Given the description of an element on the screen output the (x, y) to click on. 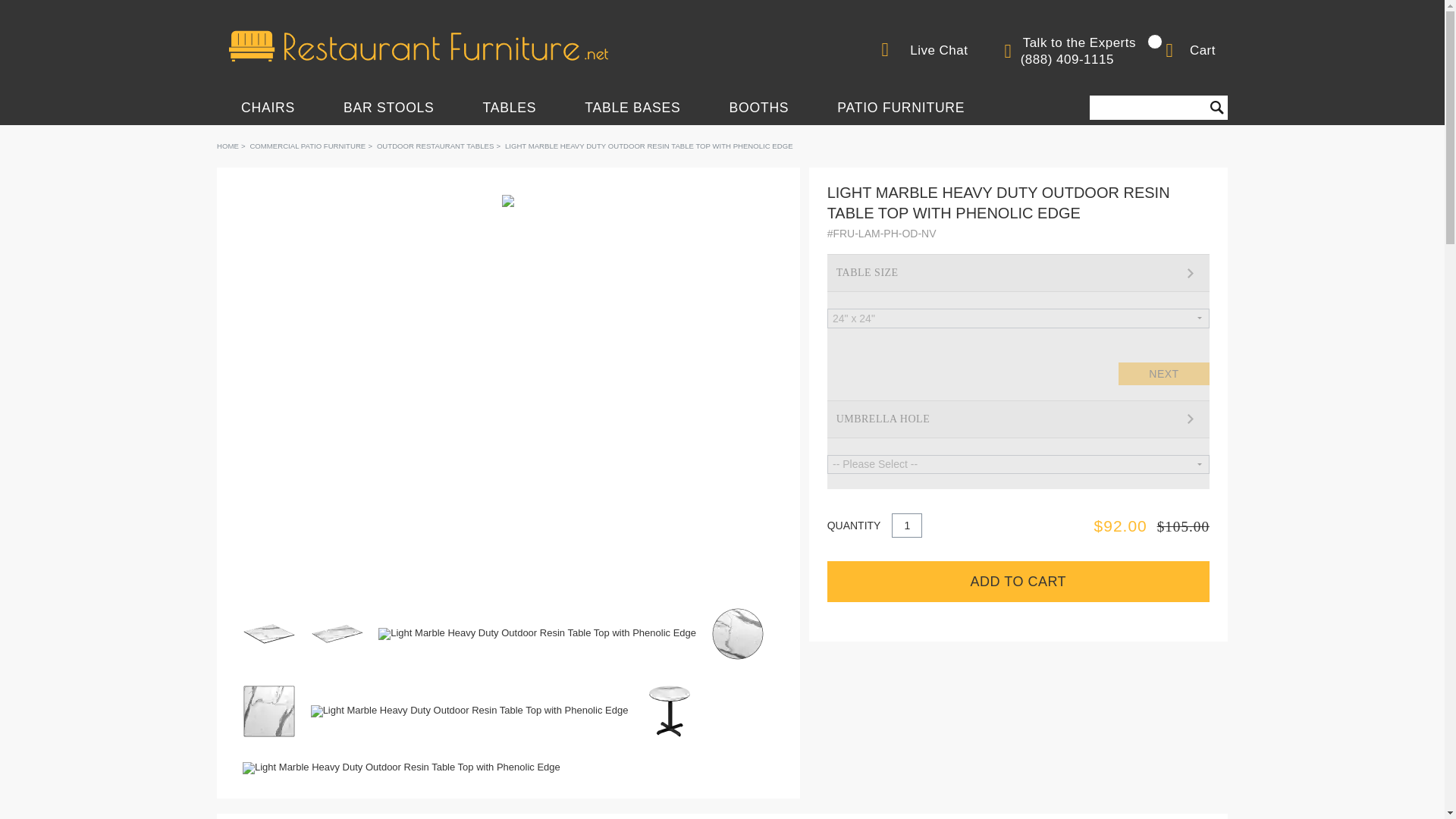
outdoor restaurant tables (435, 145)
Add to Cart (1018, 581)
Search (1216, 107)
Commercial Patio Furniture (306, 145)
Home (227, 145)
Qty (906, 525)
Restaurant Furniture.net (418, 46)
1 (906, 525)
